Given the description of an element on the screen output the (x, y) to click on. 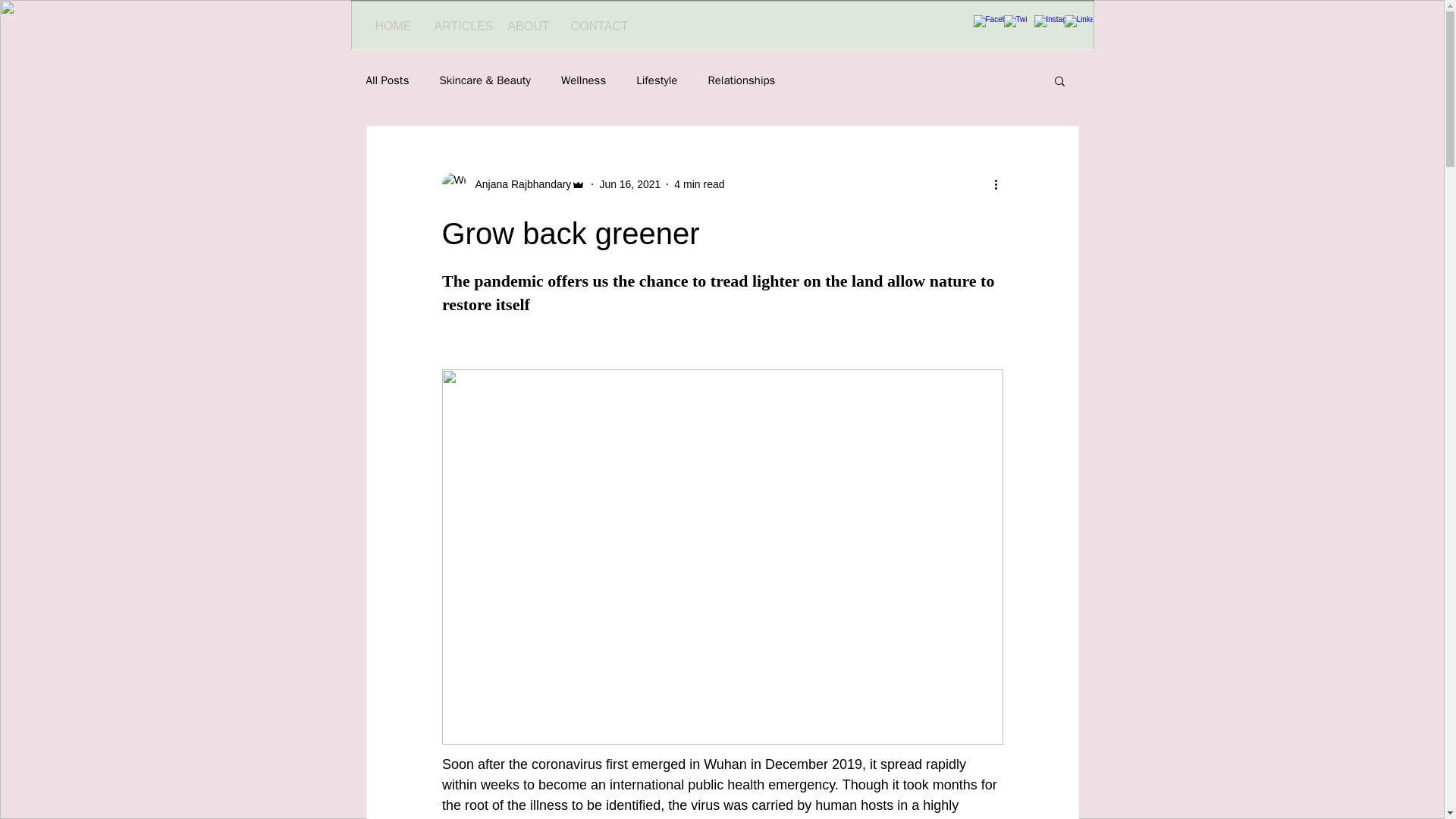
Anjana Rajbhandary (517, 183)
All Posts (387, 79)
CONTACT (599, 26)
Wellness (582, 79)
Lifestyle (656, 79)
ABOUT (527, 26)
4 min read (698, 183)
Jun 16, 2021 (629, 183)
Relationships (740, 79)
ARTICLES (459, 26)
